Given the description of an element on the screen output the (x, y) to click on. 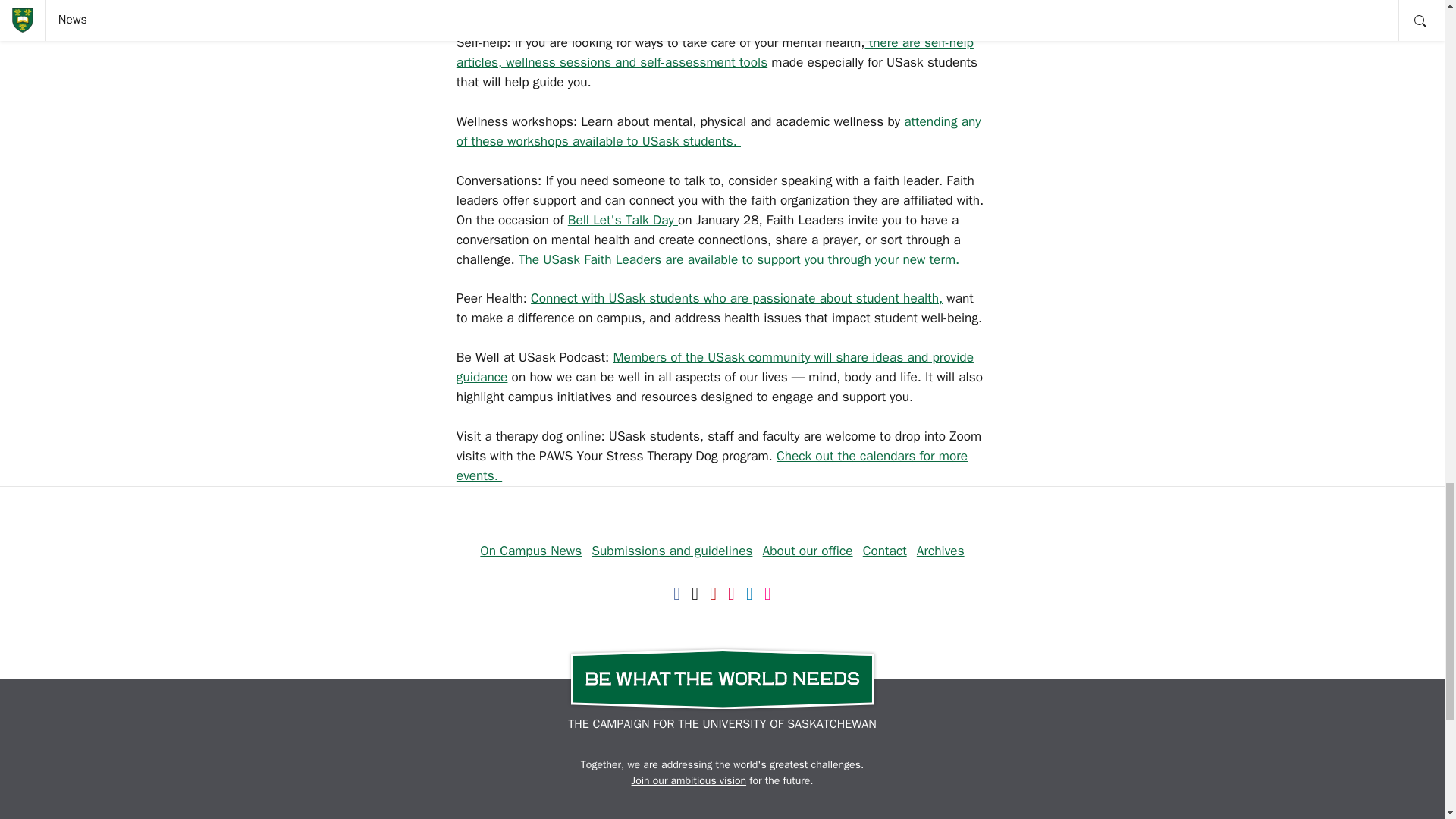
On Campus News (530, 550)
Check out the calendars for more events.  (712, 465)
Contact (885, 550)
About our office (807, 550)
Archives (940, 550)
